Given the description of an element on the screen output the (x, y) to click on. 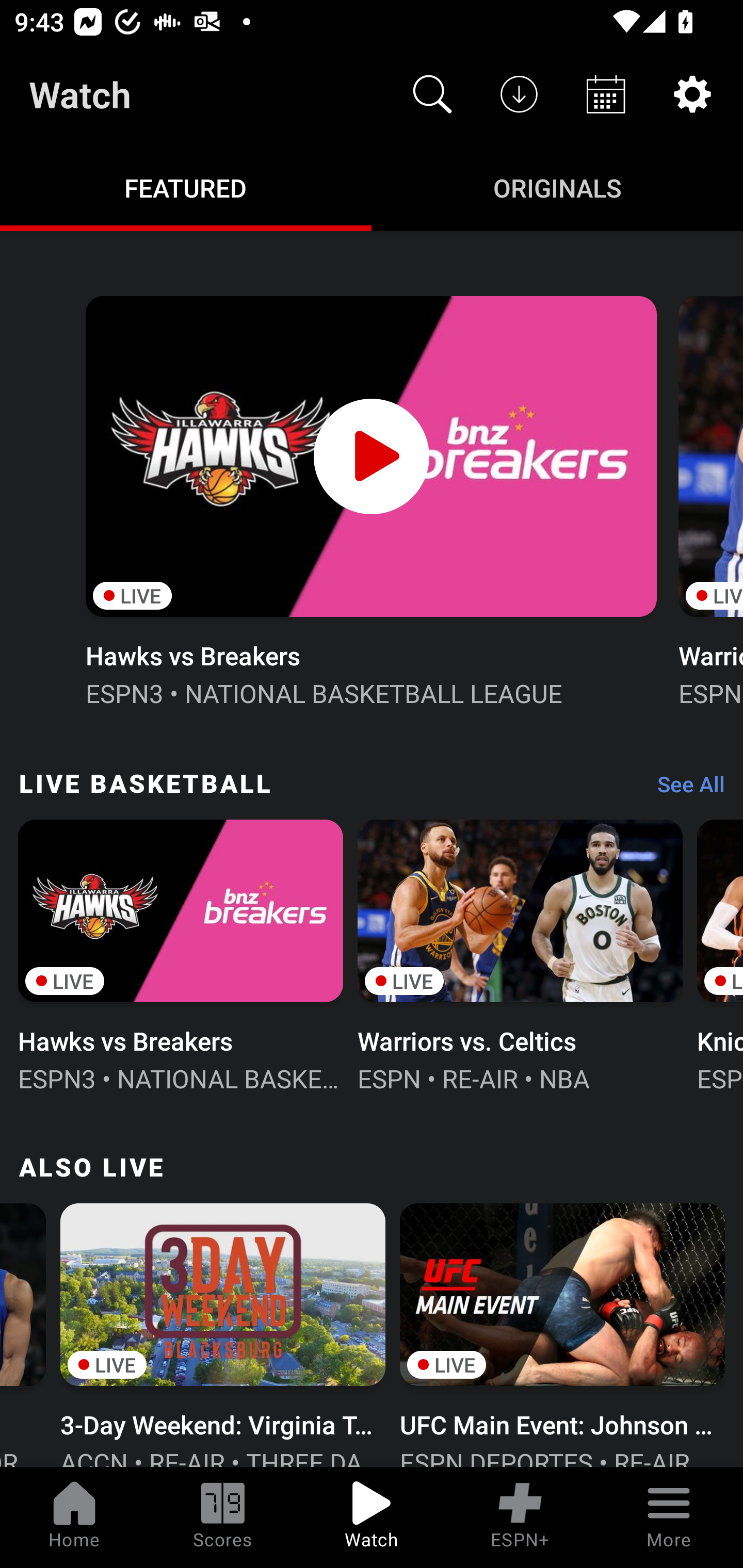
Search (432, 93)
Downloads (518, 93)
Schedule (605, 93)
Settings (692, 93)
Originals ORIGINALS (557, 187)
See All (683, 788)
LIVE Warriors vs. Celtics ESPN • RE-AIR • NBA (519, 954)
Home (74, 1517)
Scores (222, 1517)
ESPN+ (519, 1517)
More (668, 1517)
